Given the description of an element on the screen output the (x, y) to click on. 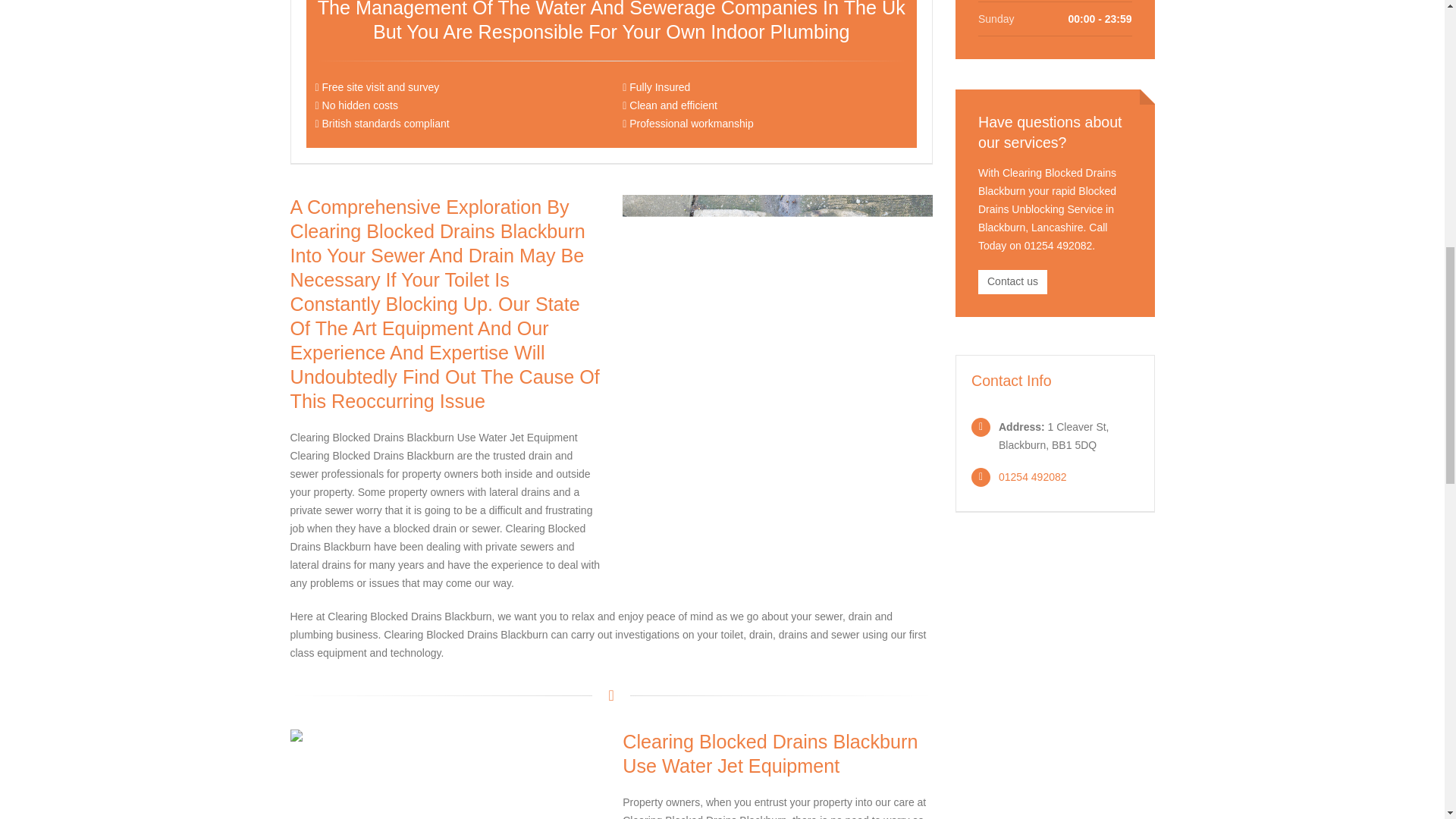
Contact us (1012, 282)
01254 492082 (1032, 476)
